Given the description of an element on the screen output the (x, y) to click on. 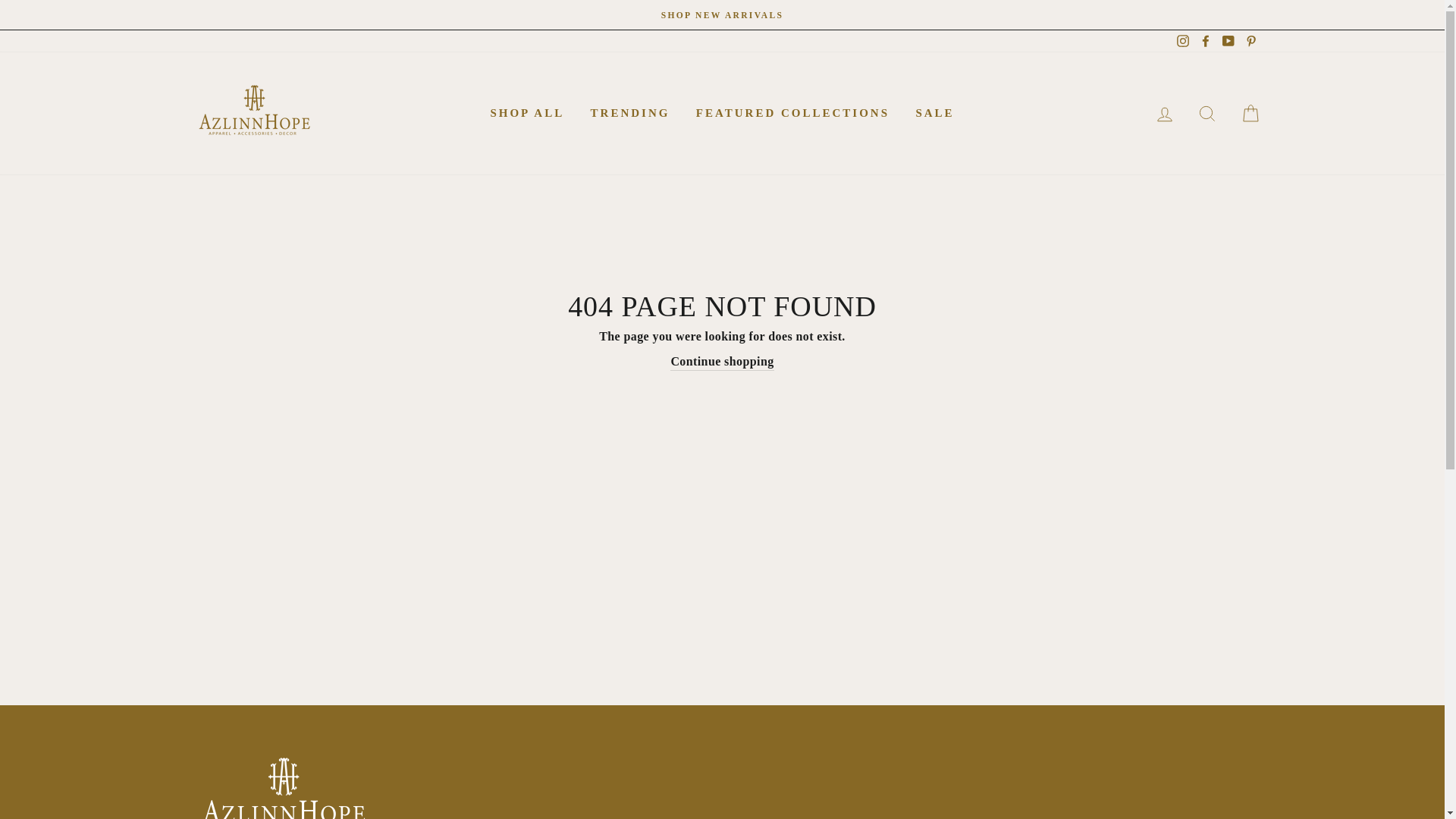
Azlinn Hope on Pinterest (1250, 41)
Azlinn Hope on Facebook (1205, 41)
Azlinn Hope on YouTube (1228, 41)
Azlinn Hope on Instagram (1182, 41)
